Given the description of an element on the screen output the (x, y) to click on. 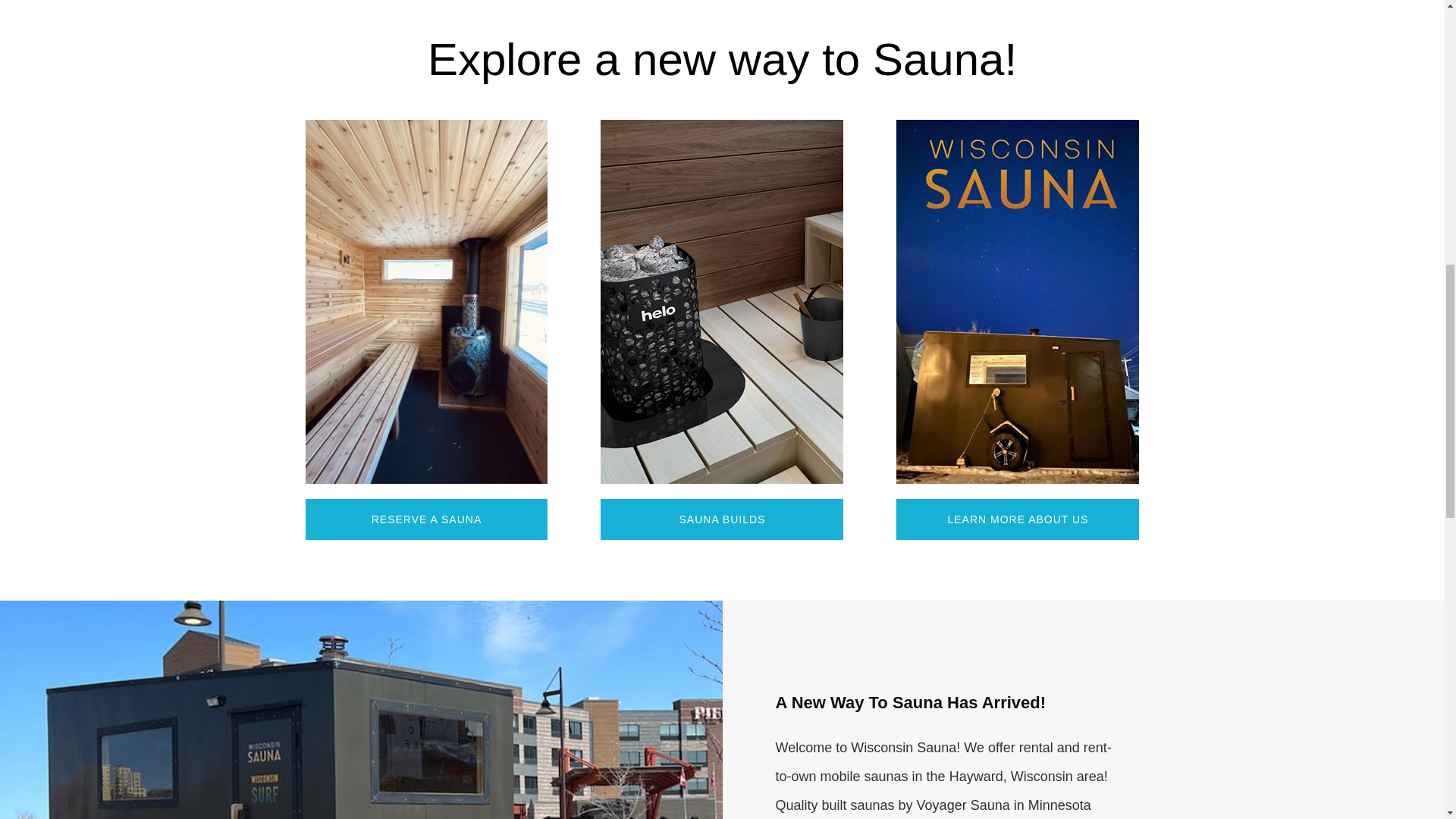
RESERVE A SAUNA (425, 518)
SAUNA BUILDS (721, 518)
LEARN MORE ABOUT US (1017, 518)
